Given the description of an element on the screen output the (x, y) to click on. 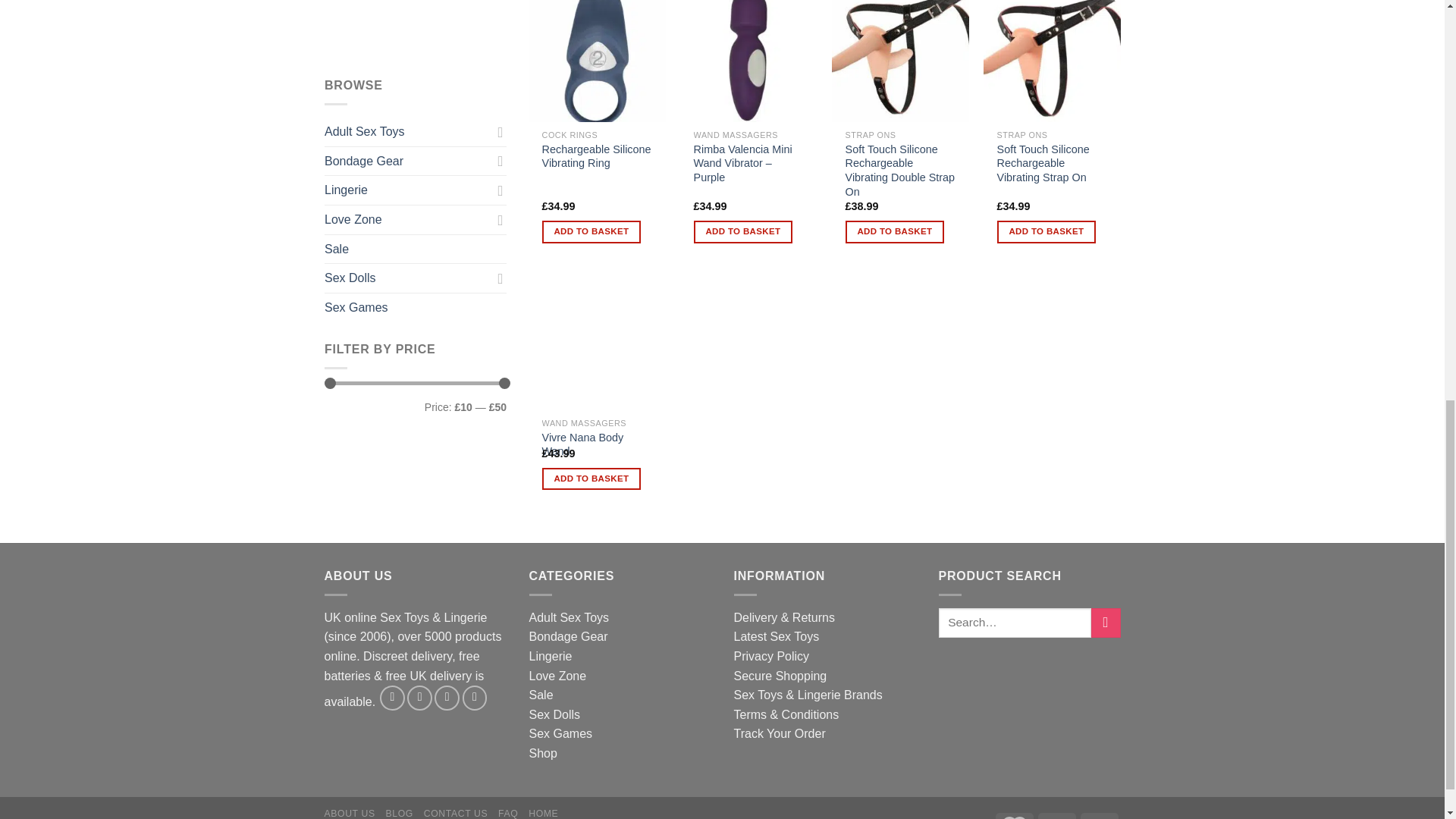
Follow on Twitter (419, 697)
Send us an email (446, 697)
Follow on Facebook (392, 697)
Subscribe to RSS (475, 697)
